Given the description of an element on the screen output the (x, y) to click on. 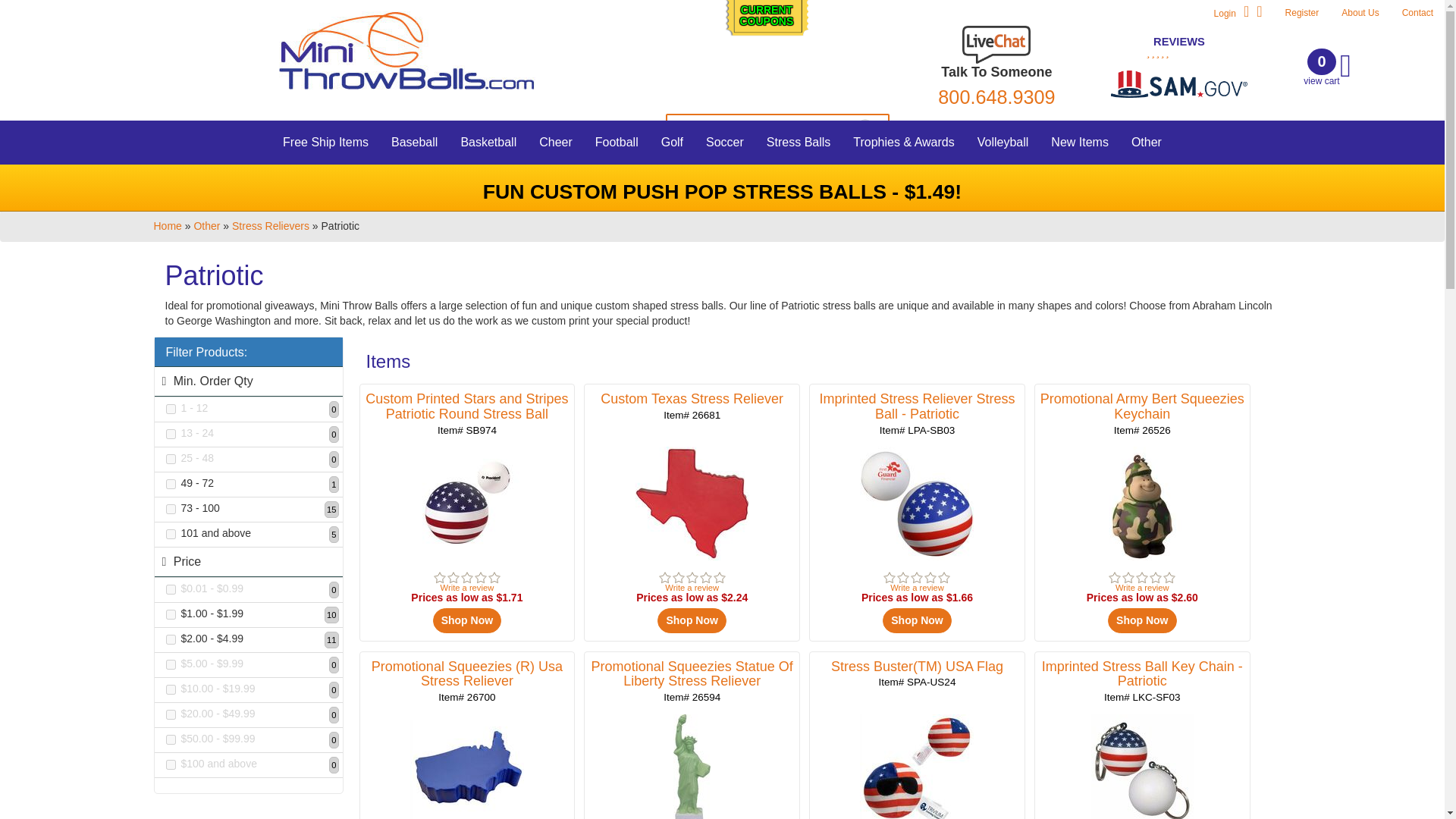
Submit (867, 126)
Free Ship Items (1325, 67)
Cheer (325, 142)
Basketball (555, 142)
800.648.9309 (766, 22)
1 - 12 (487, 142)
49 - 72 (995, 96)
About Us (169, 409)
Register (169, 483)
25 - 48 (1360, 12)
Contact (1302, 12)
REVIEWS (169, 459)
Login     (1417, 12)
